Given the description of an element on the screen output the (x, y) to click on. 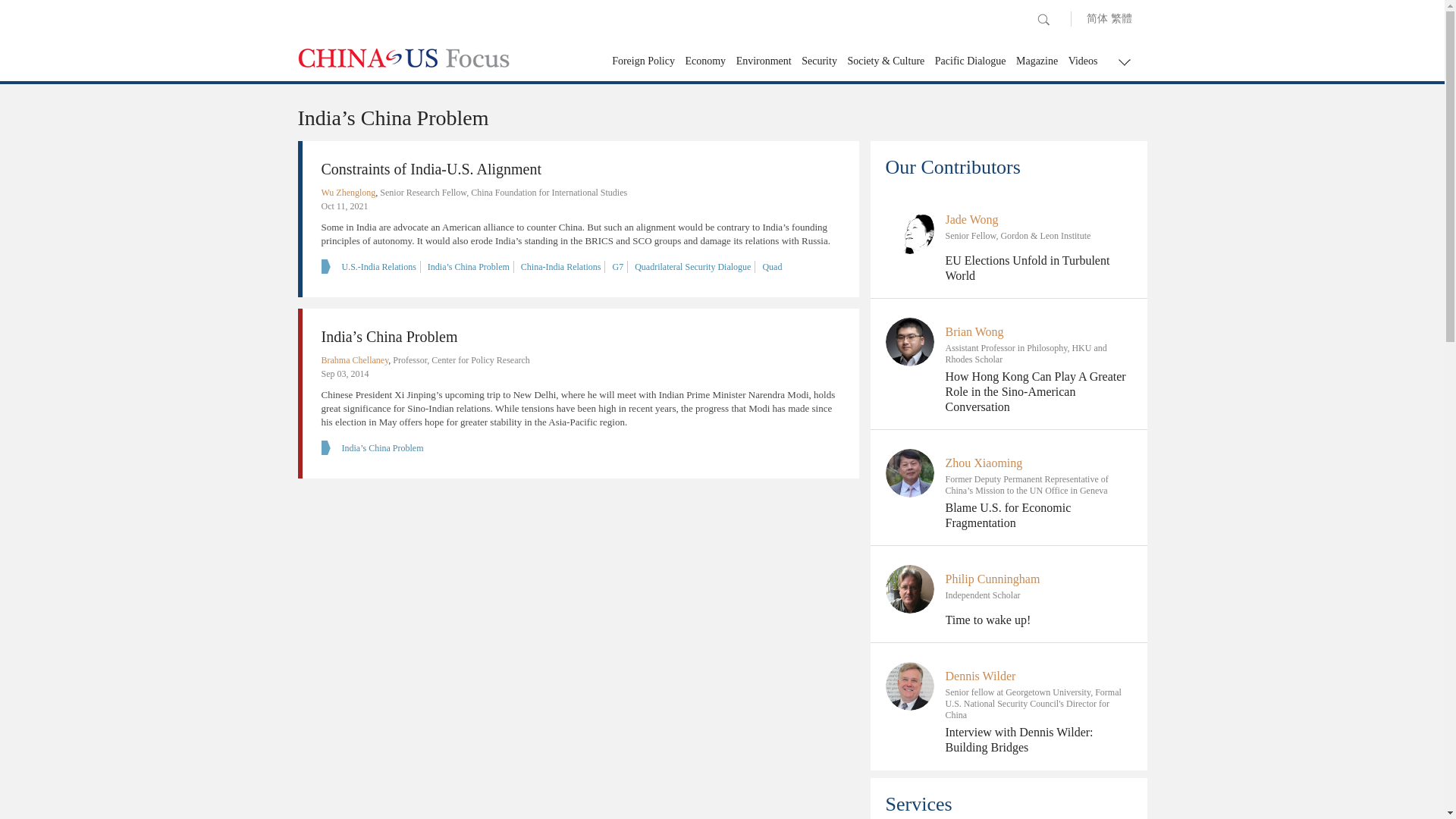
CHINA US Focus (403, 58)
Search (1043, 19)
